Given the description of an element on the screen output the (x, y) to click on. 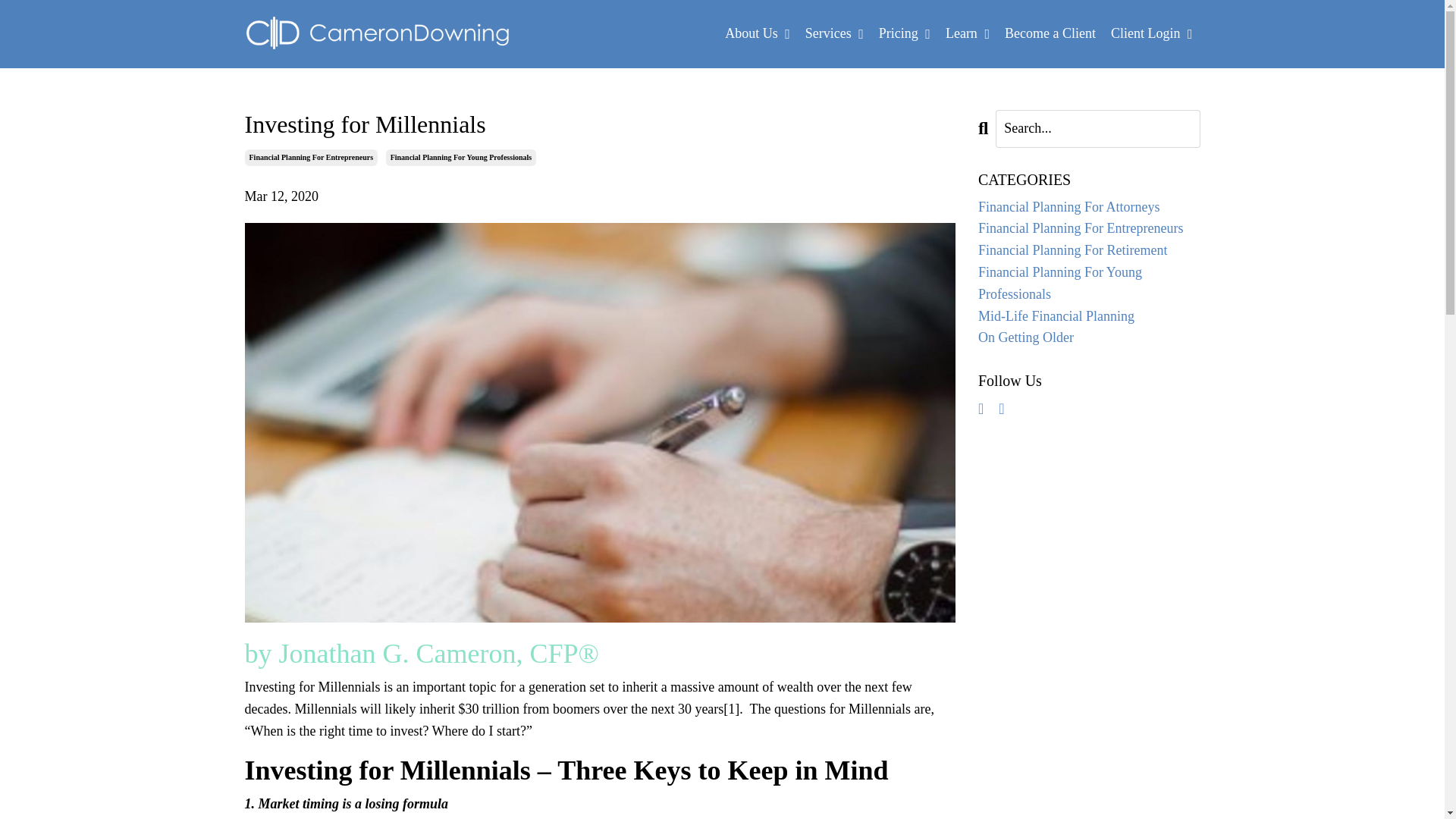
Learn (967, 33)
Financial Planning For Attorneys (1088, 207)
Financial Planning For Entrepreneurs (310, 157)
Financial Planning For Young Professionals (461, 157)
Financial Planning For Young Professionals (1088, 283)
Financial Planning For Retirement (1088, 250)
Services (834, 33)
About Us (757, 33)
Client Login (1151, 33)
Pricing (904, 33)
Financial Planning For Entrepreneurs (1088, 228)
Become a Client (1050, 33)
Mid-Life Financial Planning (1088, 316)
